Given the description of an element on the screen output the (x, y) to click on. 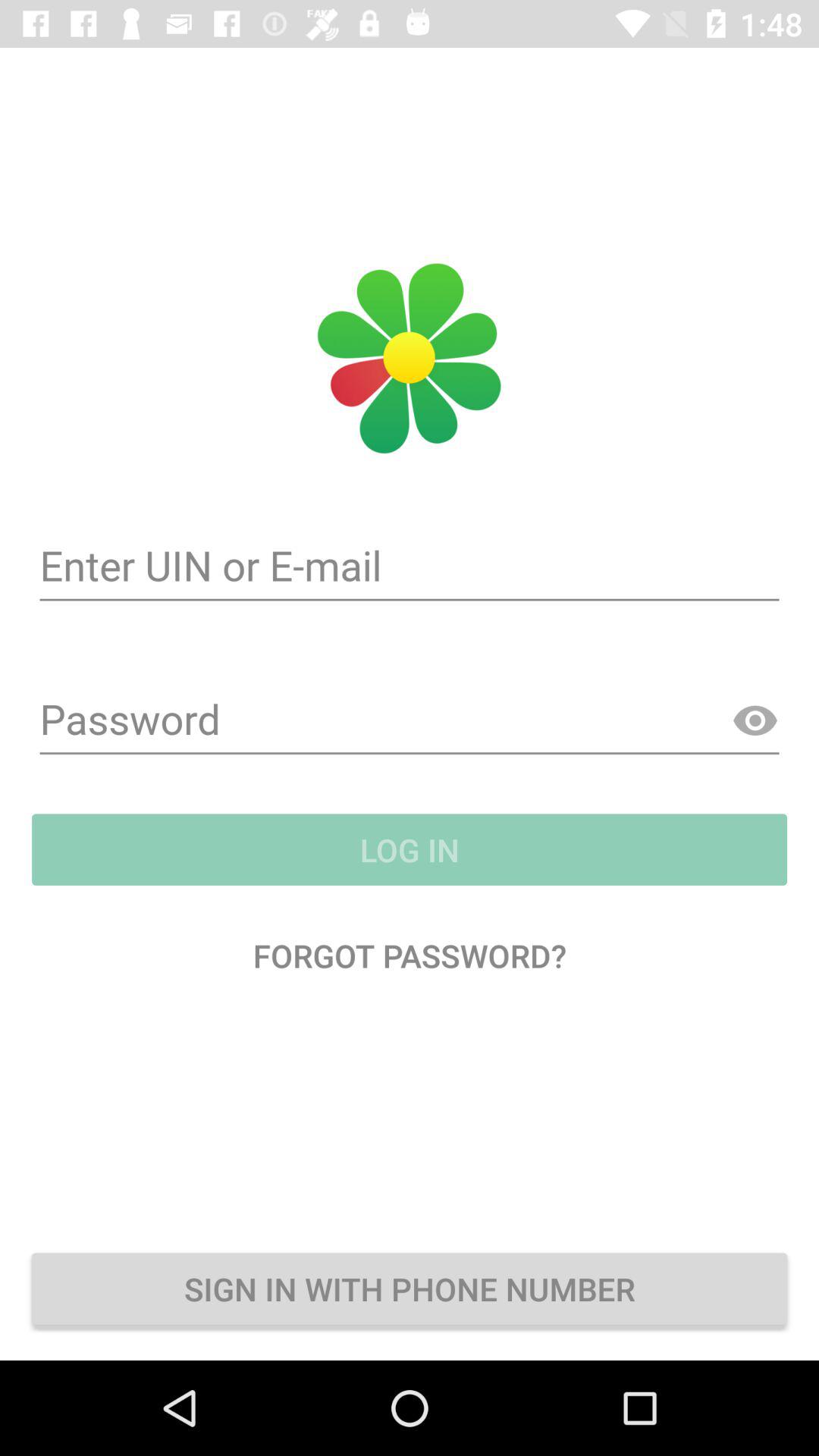
turn off forgot password? icon (409, 955)
